Given the description of an element on the screen output the (x, y) to click on. 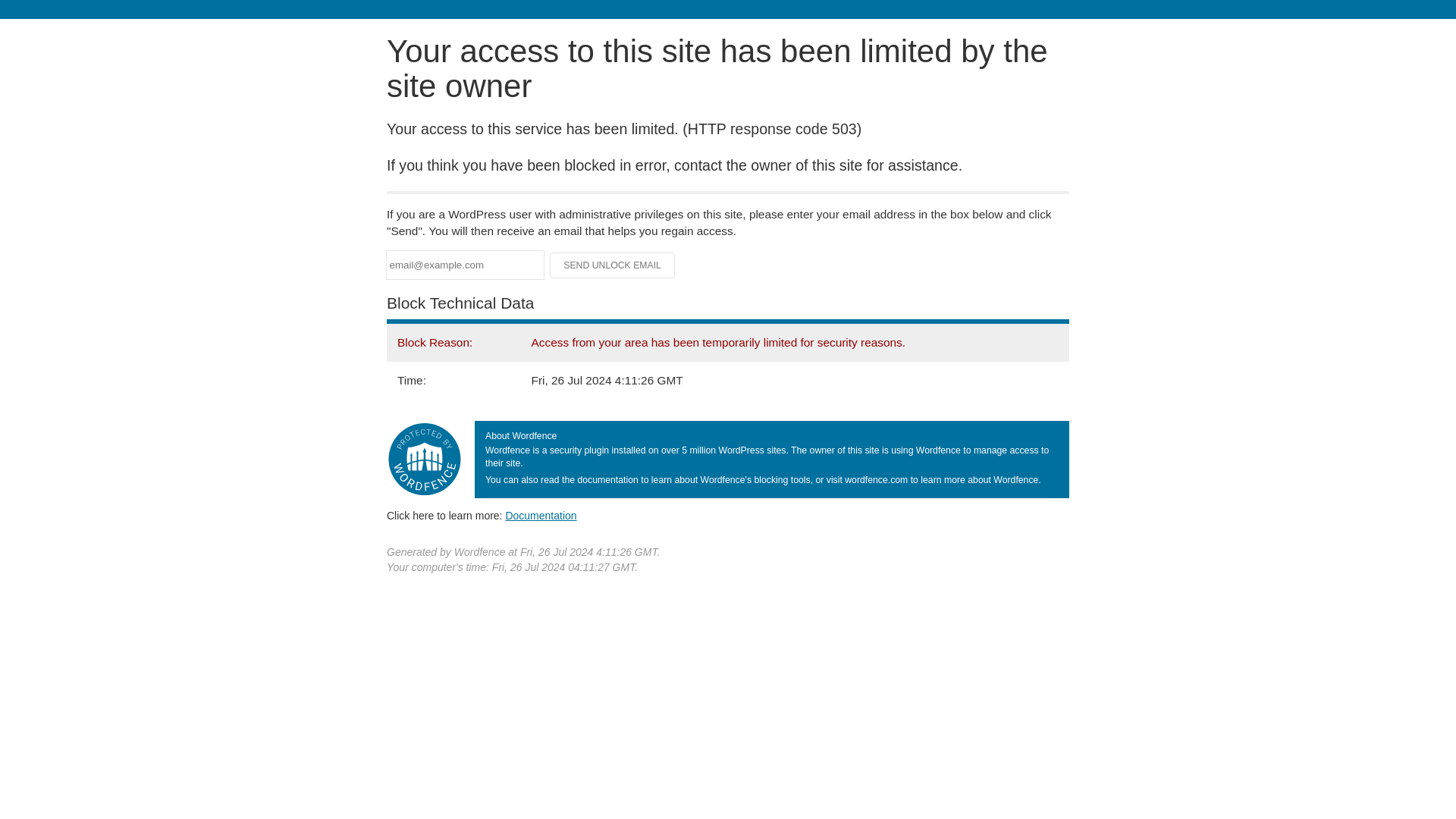
Send Unlock Email (612, 265)
Send Unlock Email (612, 265)
Documentation (540, 515)
